Given the description of an element on the screen output the (x, y) to click on. 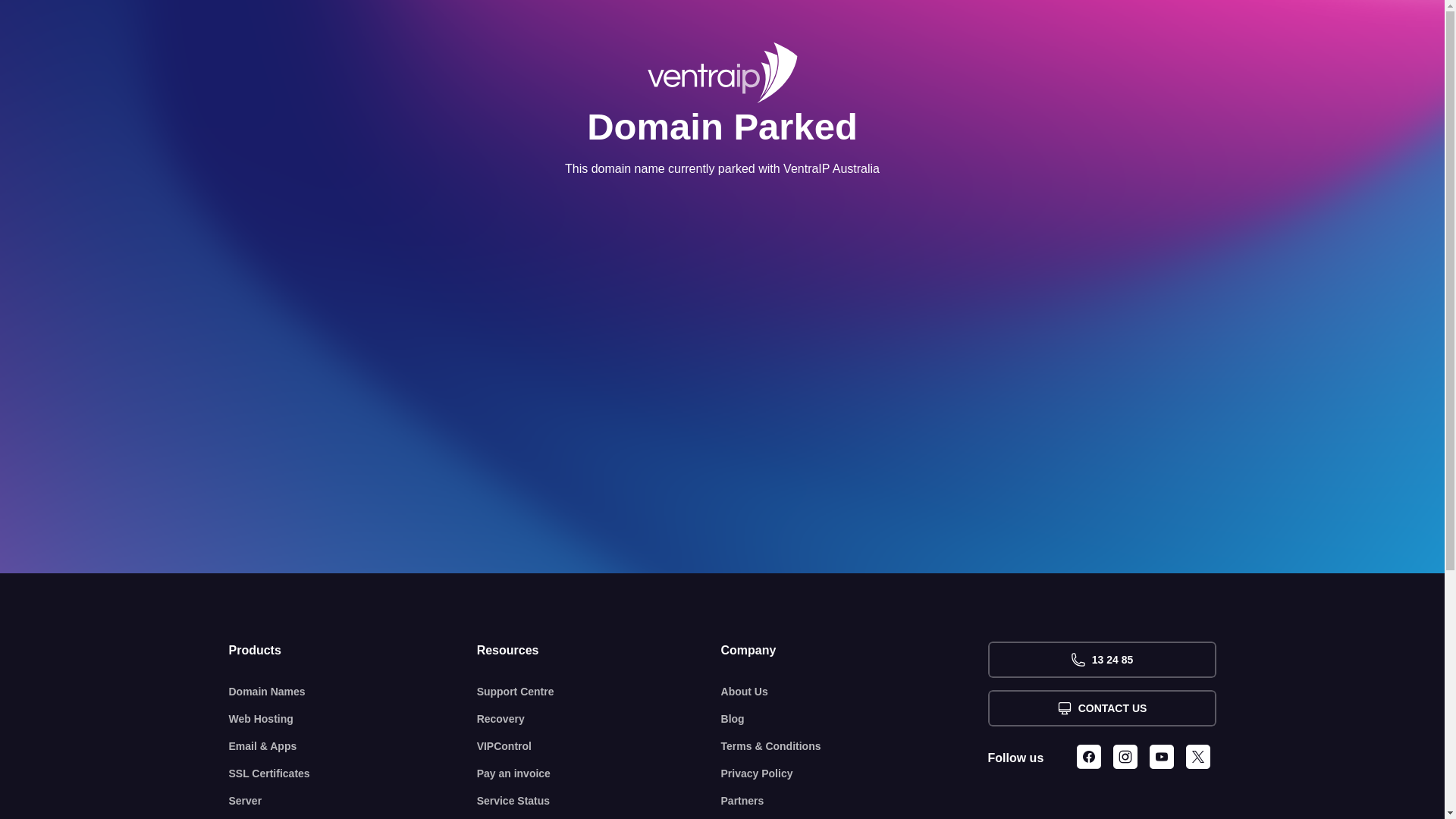
SSL Certificates Element type: text (352, 773)
CONTACT US Element type: text (1101, 708)
Partners Element type: text (854, 800)
Pay an invoice Element type: text (598, 773)
Server Element type: text (352, 800)
13 24 85 Element type: text (1101, 659)
Web Hosting Element type: text (352, 718)
Email & Apps Element type: text (352, 745)
VIPControl Element type: text (598, 745)
About Us Element type: text (854, 691)
Privacy Policy Element type: text (854, 773)
Terms & Conditions Element type: text (854, 745)
Domain Names Element type: text (352, 691)
Support Centre Element type: text (598, 691)
Recovery Element type: text (598, 718)
Blog Element type: text (854, 718)
Service Status Element type: text (598, 800)
